Given the description of an element on the screen output the (x, y) to click on. 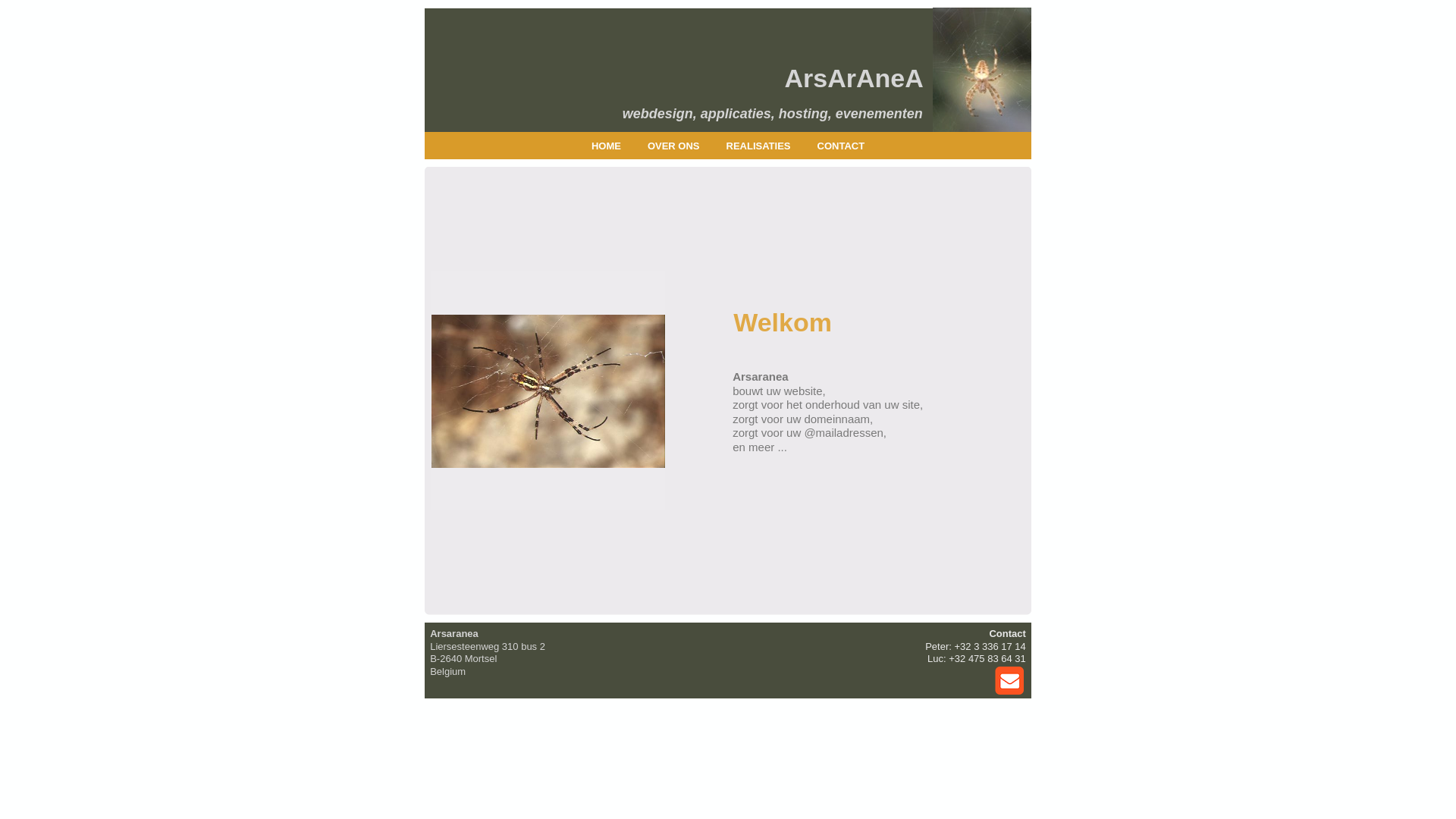
CONTACT Element type: text (841, 145)
REALISATIES Element type: text (758, 145)
OVER ONS Element type: text (673, 145)
HOME Element type: text (605, 145)
